Given the description of an element on the screen output the (x, y) to click on. 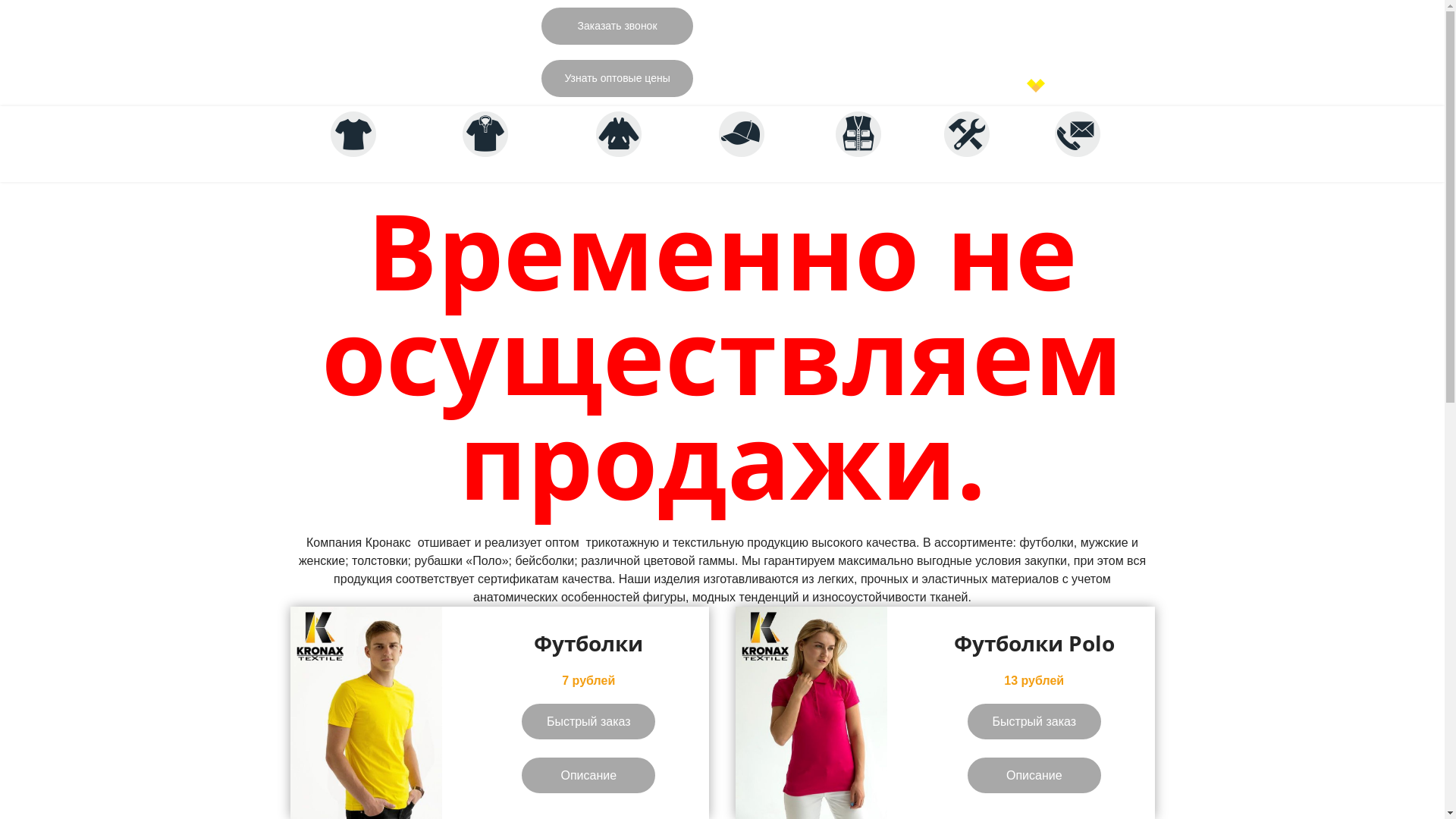
+375(29) 383-11-91 Element type: text (1095, 84)
info@kronax.by Element type: text (1105, 68)
